Given the description of an element on the screen output the (x, y) to click on. 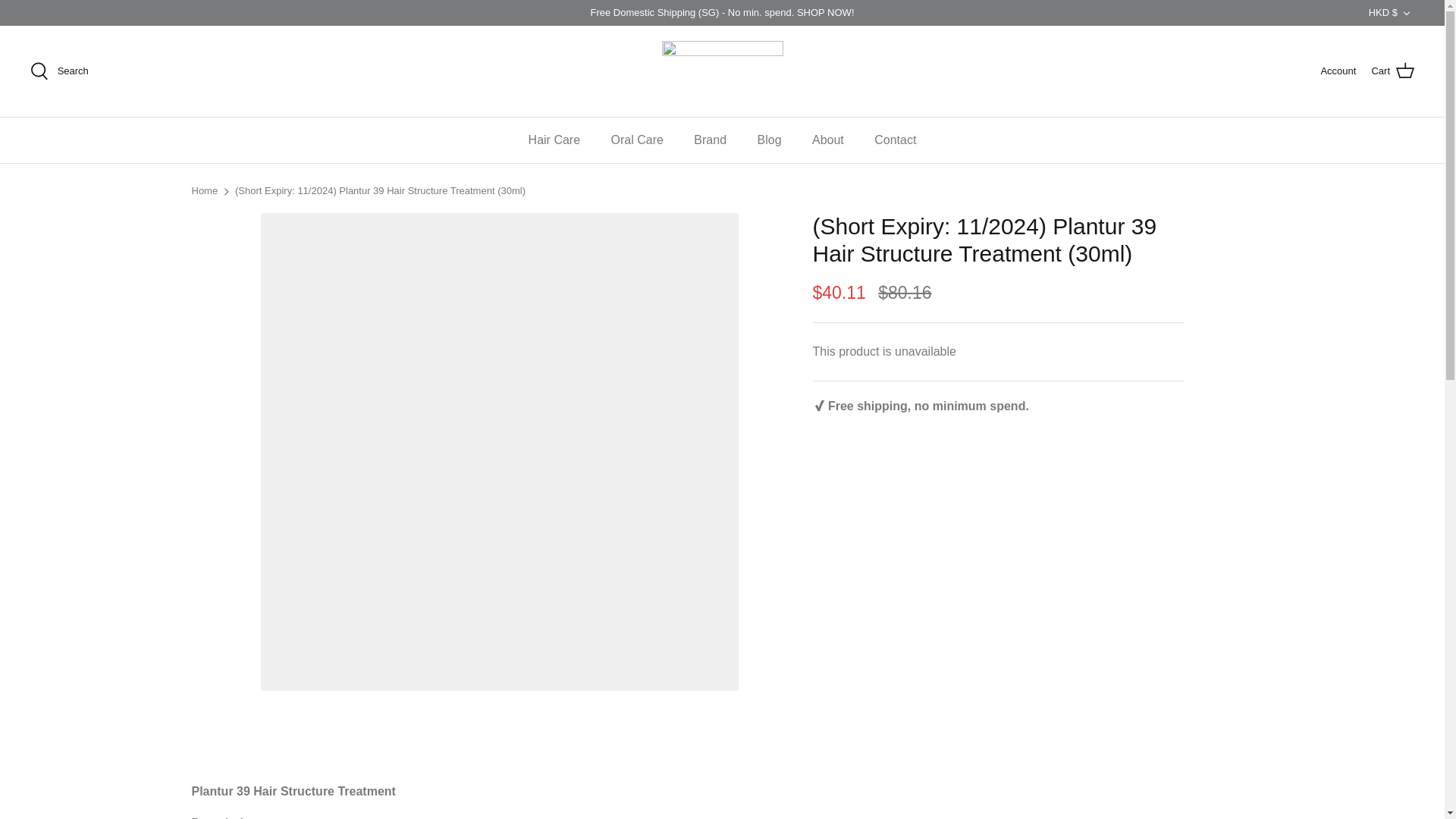
Cart (1392, 71)
Down (1406, 13)
Account (1337, 71)
Hair Care (554, 139)
Search (59, 71)
